Given the description of an element on the screen output the (x, y) to click on. 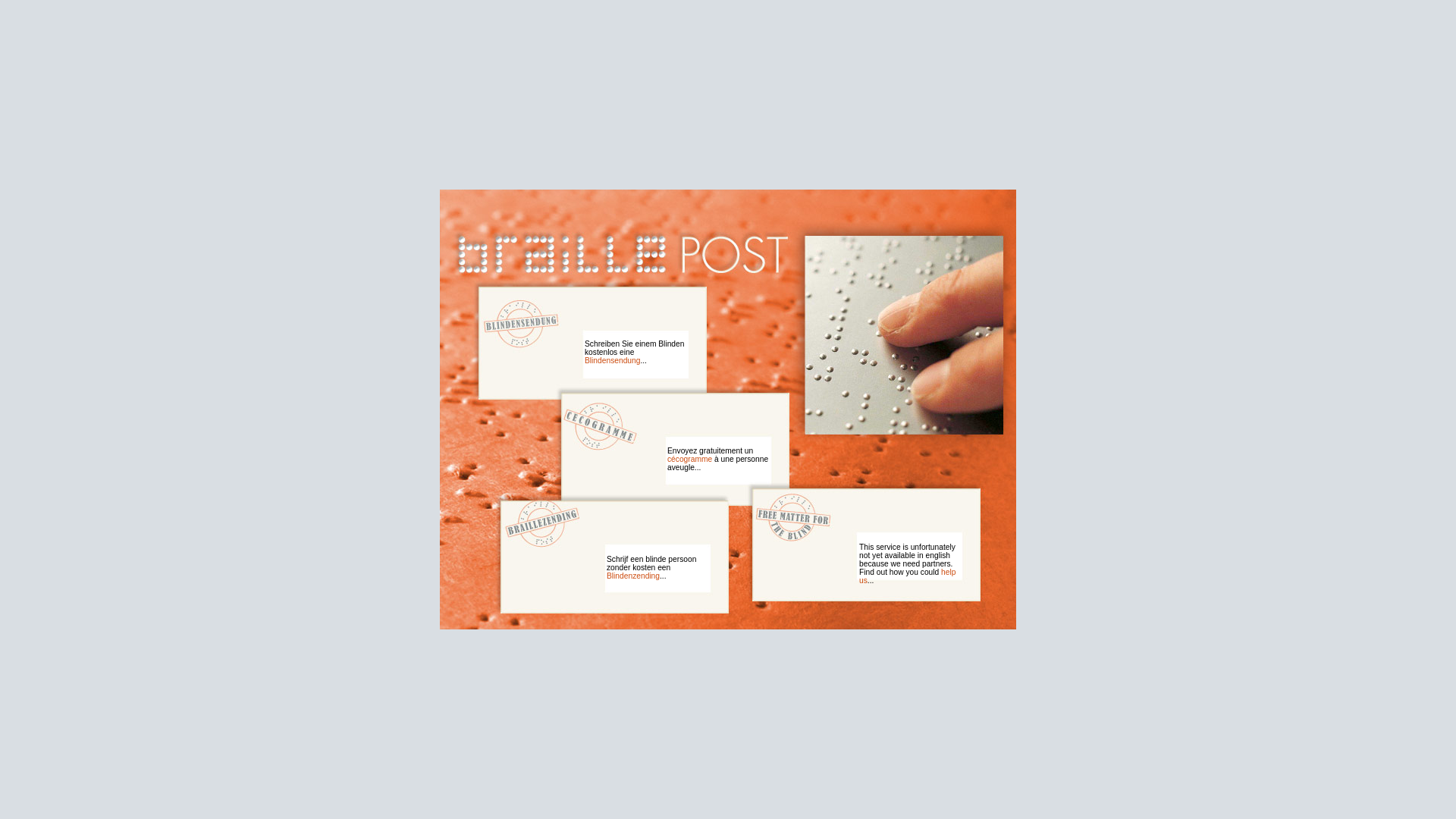
Blindenzending Element type: text (632, 575)
help us Element type: text (907, 575)
Blindensendung Element type: text (612, 360)
